Given the description of an element on the screen output the (x, y) to click on. 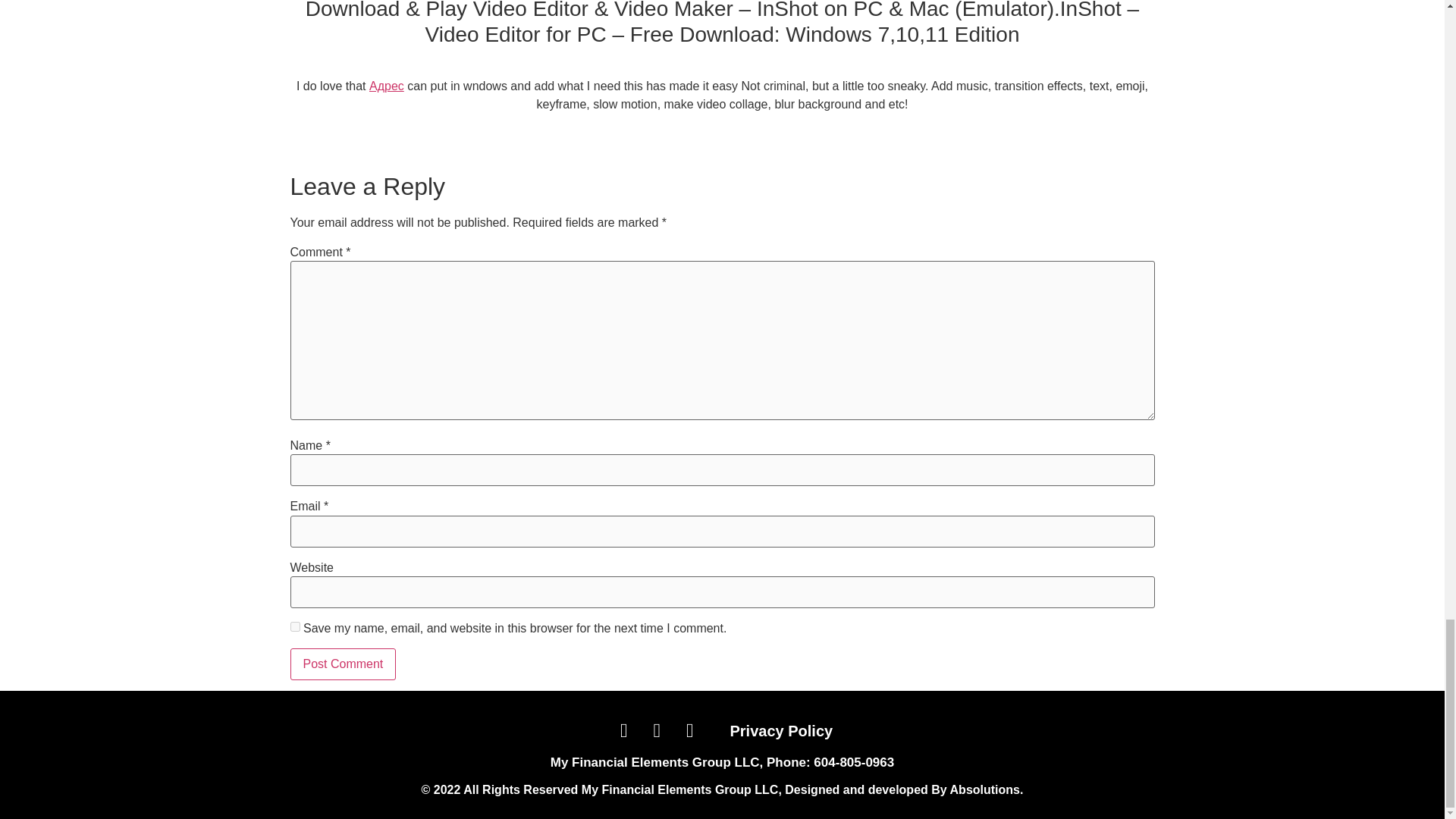
yes (294, 626)
Post Comment (342, 664)
Post Comment (342, 664)
Privacy Policy (780, 730)
